Given the description of an element on the screen output the (x, y) to click on. 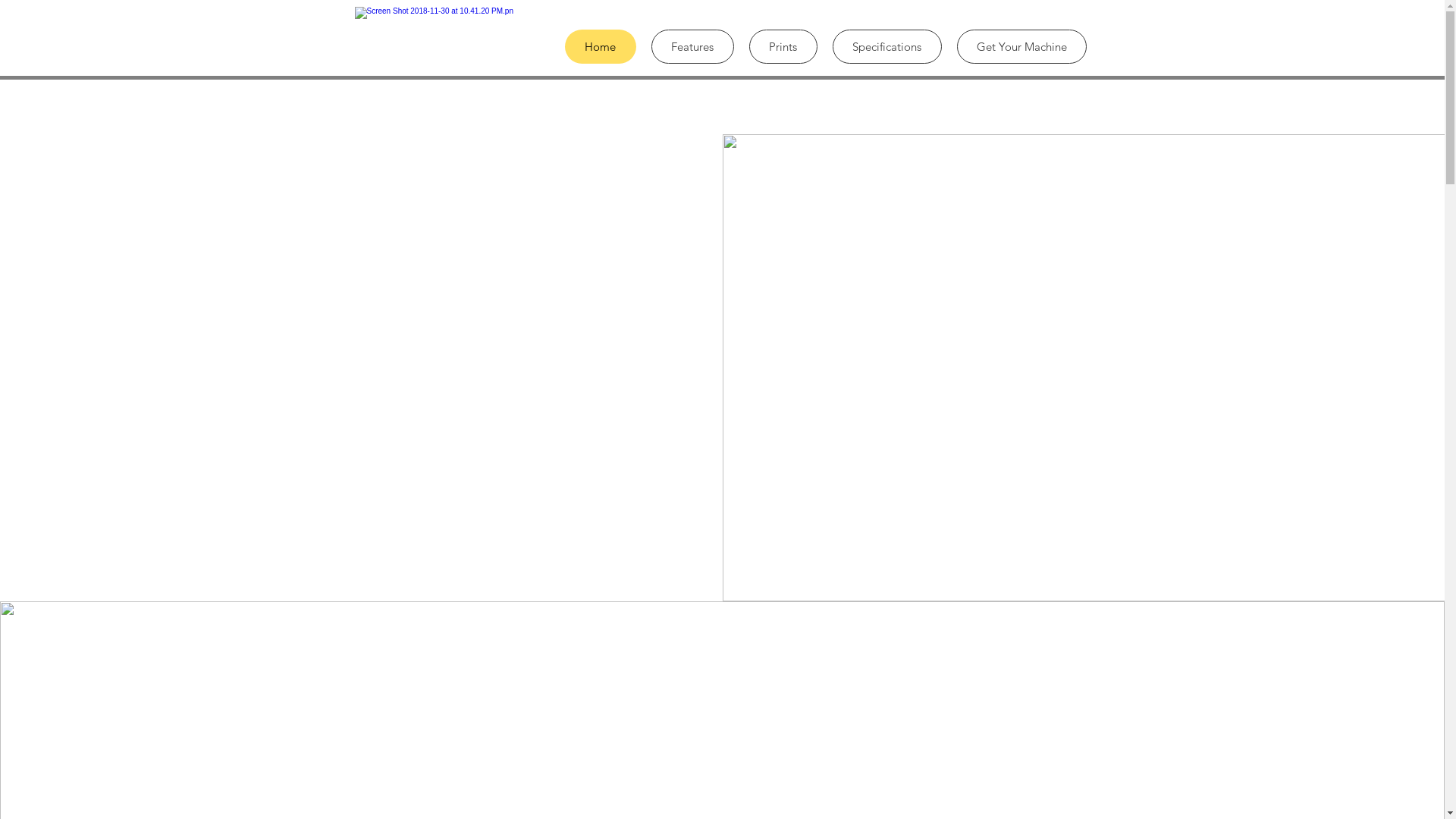
Features Element type: text (691, 46)
Home Element type: text (599, 46)
Prints Element type: text (783, 46)
Specifications Element type: text (886, 46)
Get Your Machine Element type: text (1021, 46)
